Given the description of an element on the screen output the (x, y) to click on. 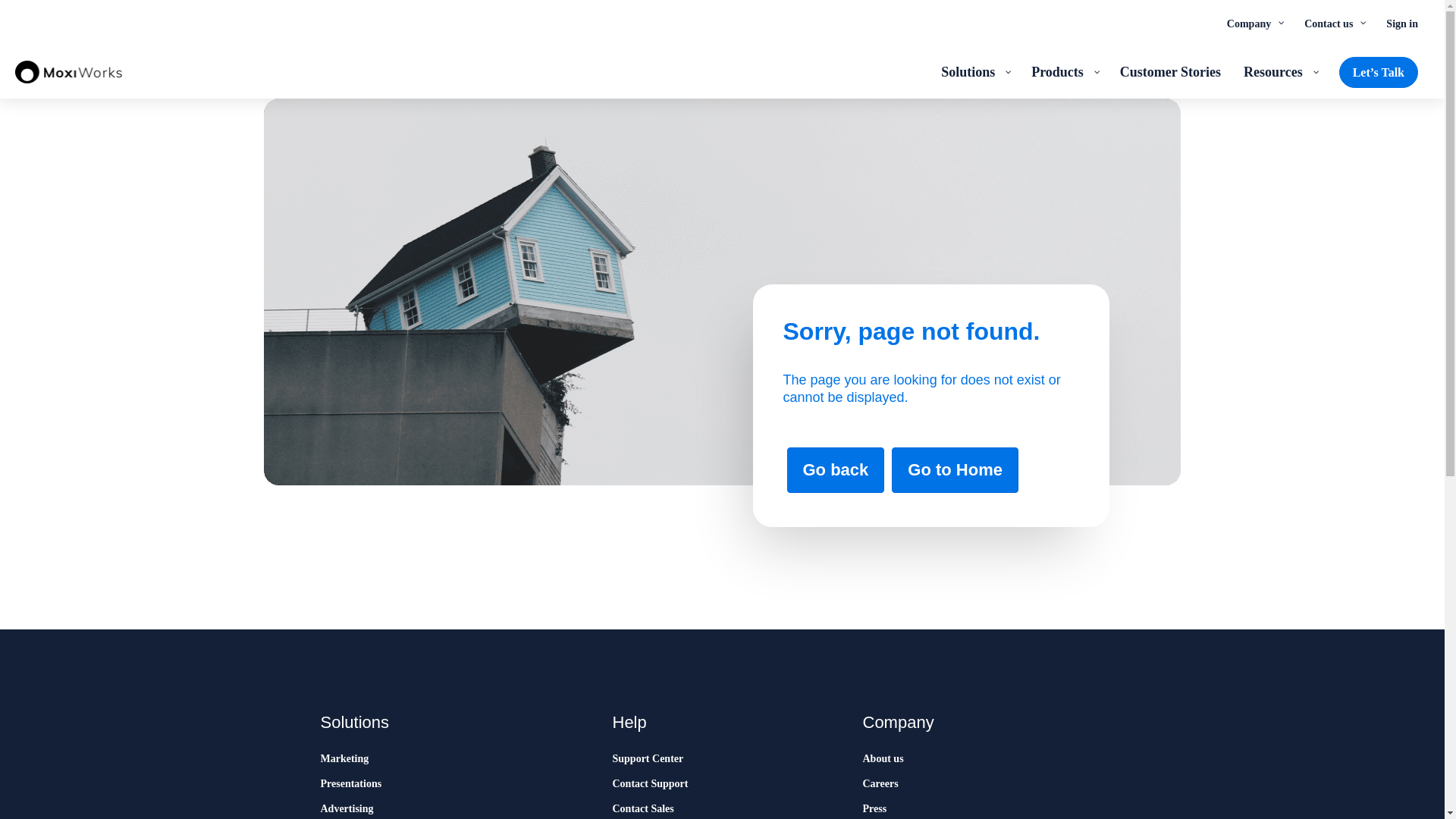
Solutions (975, 72)
Company (1253, 22)
Sign in (1401, 22)
Products (1064, 72)
Contact us (1333, 22)
